Given the description of an element on the screen output the (x, y) to click on. 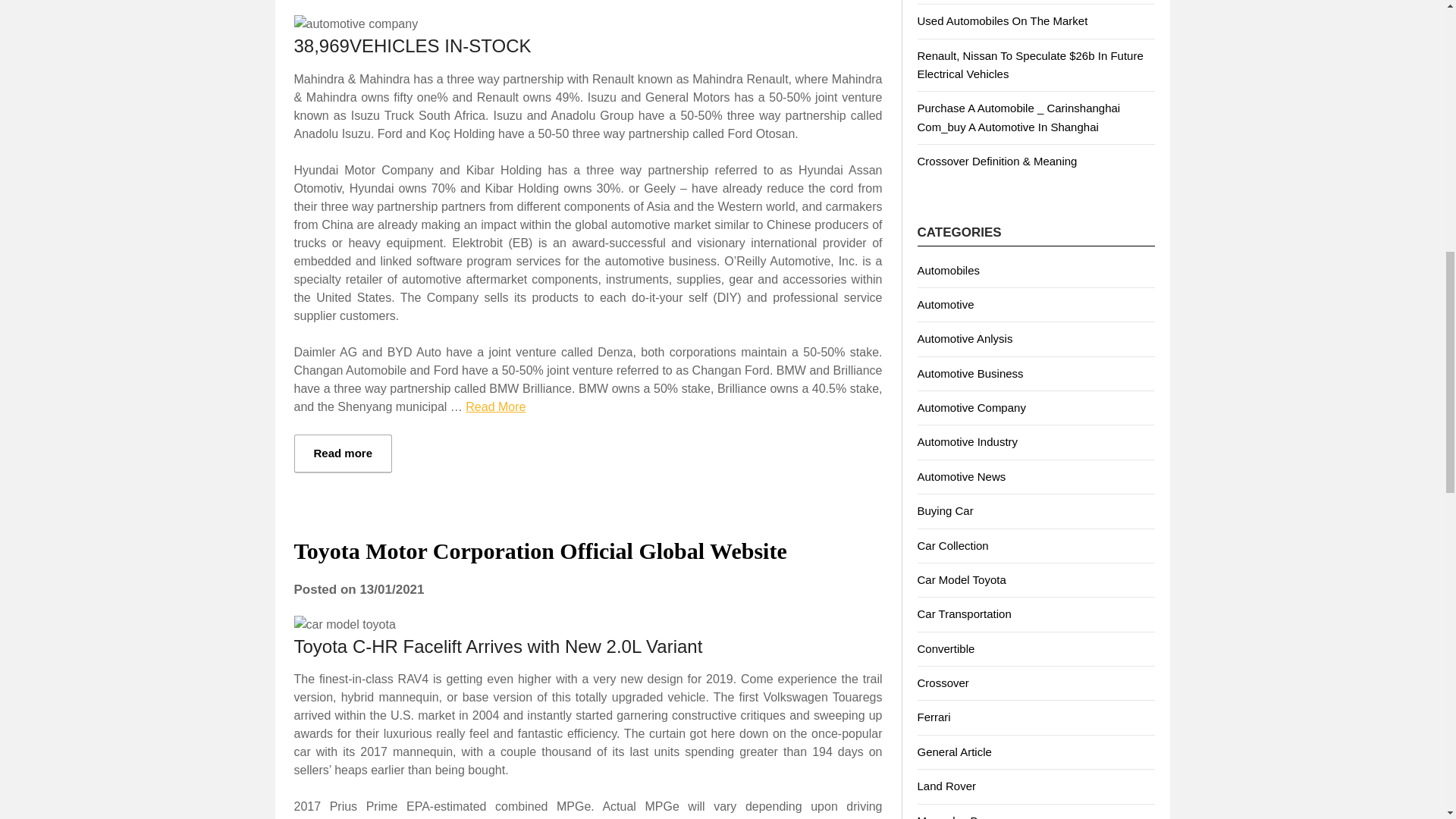
Read more (343, 453)
Read More (495, 406)
Toyota Motor Corporation Official Global Website (540, 550)
